Given the description of an element on the screen output the (x, y) to click on. 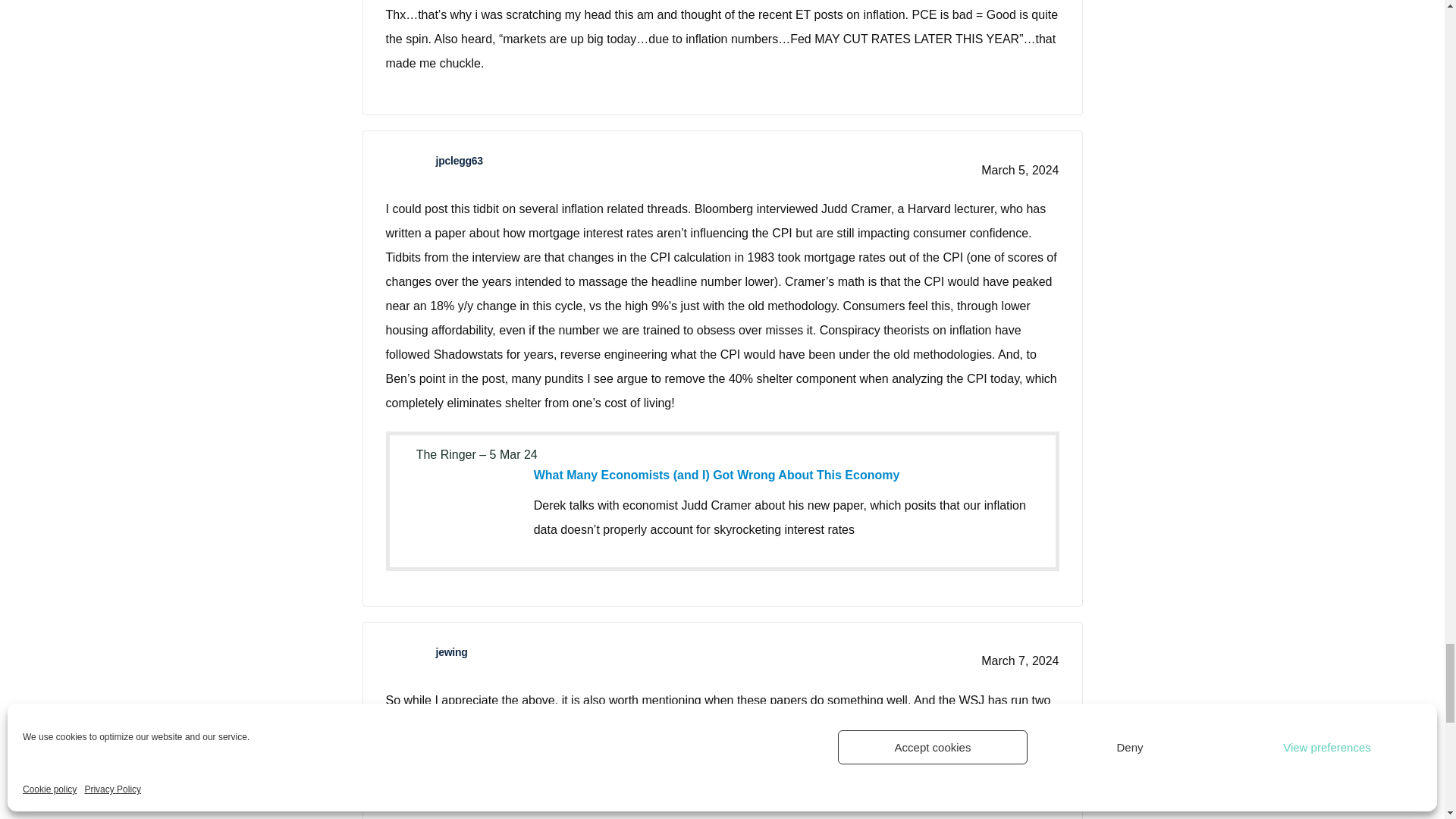
08:00AM - 05 March 2024 (476, 454)
